Given the description of an element on the screen output the (x, y) to click on. 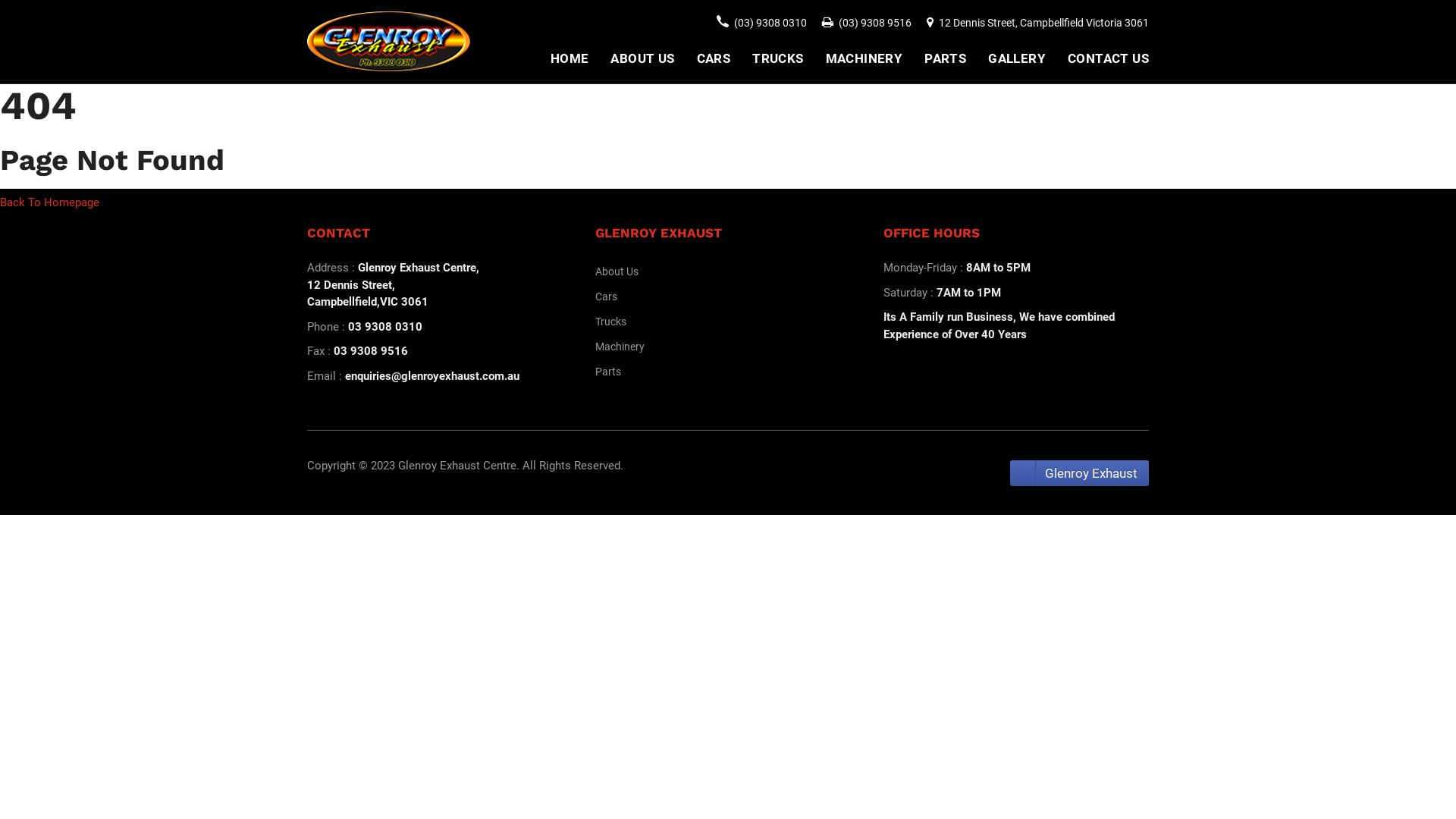
About Us Element type: text (727, 271)
Back To Homepage Element type: text (49, 202)
ABOUT US Element type: text (642, 58)
Trucks Element type: text (727, 321)
HOME Element type: text (569, 58)
CARS Element type: text (713, 58)
GALLERY Element type: text (1016, 58)
Glenroy Exhaust Element type: text (1079, 473)
Cars Element type: text (727, 296)
TRUCKS Element type: text (777, 58)
CONTACT US Element type: text (1107, 58)
Machinery Element type: text (727, 346)
Parts Element type: text (727, 371)
MACHINERY Element type: text (864, 58)
PARTS Element type: text (945, 58)
